Given the description of an element on the screen output the (x, y) to click on. 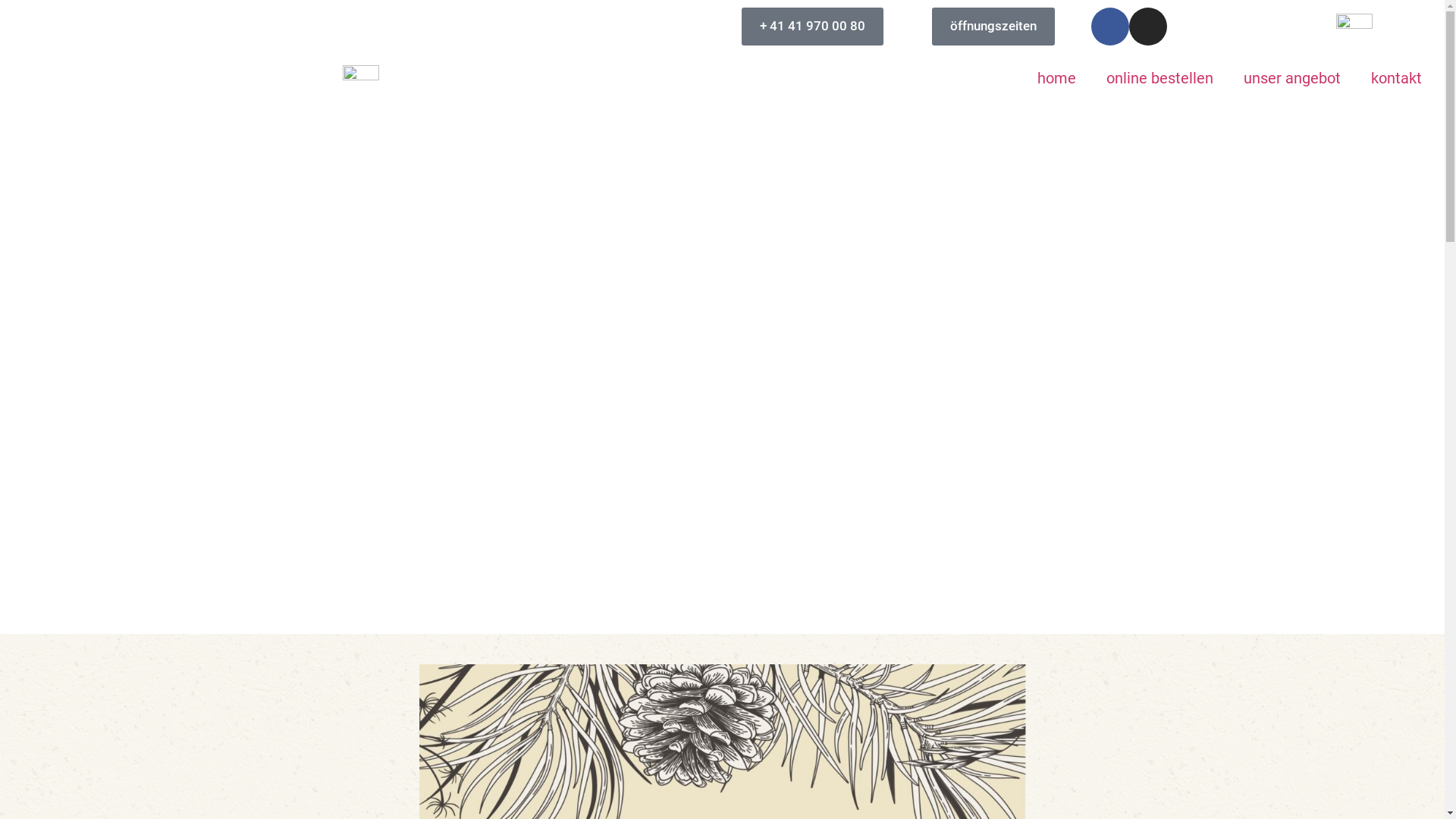
home Element type: text (1056, 77)
online bestellen Element type: text (1159, 77)
unser angebot Element type: text (1291, 77)
+ 41 41 970 00 80 Element type: text (812, 26)
kontakt Element type: text (1396, 77)
